Given the description of an element on the screen output the (x, y) to click on. 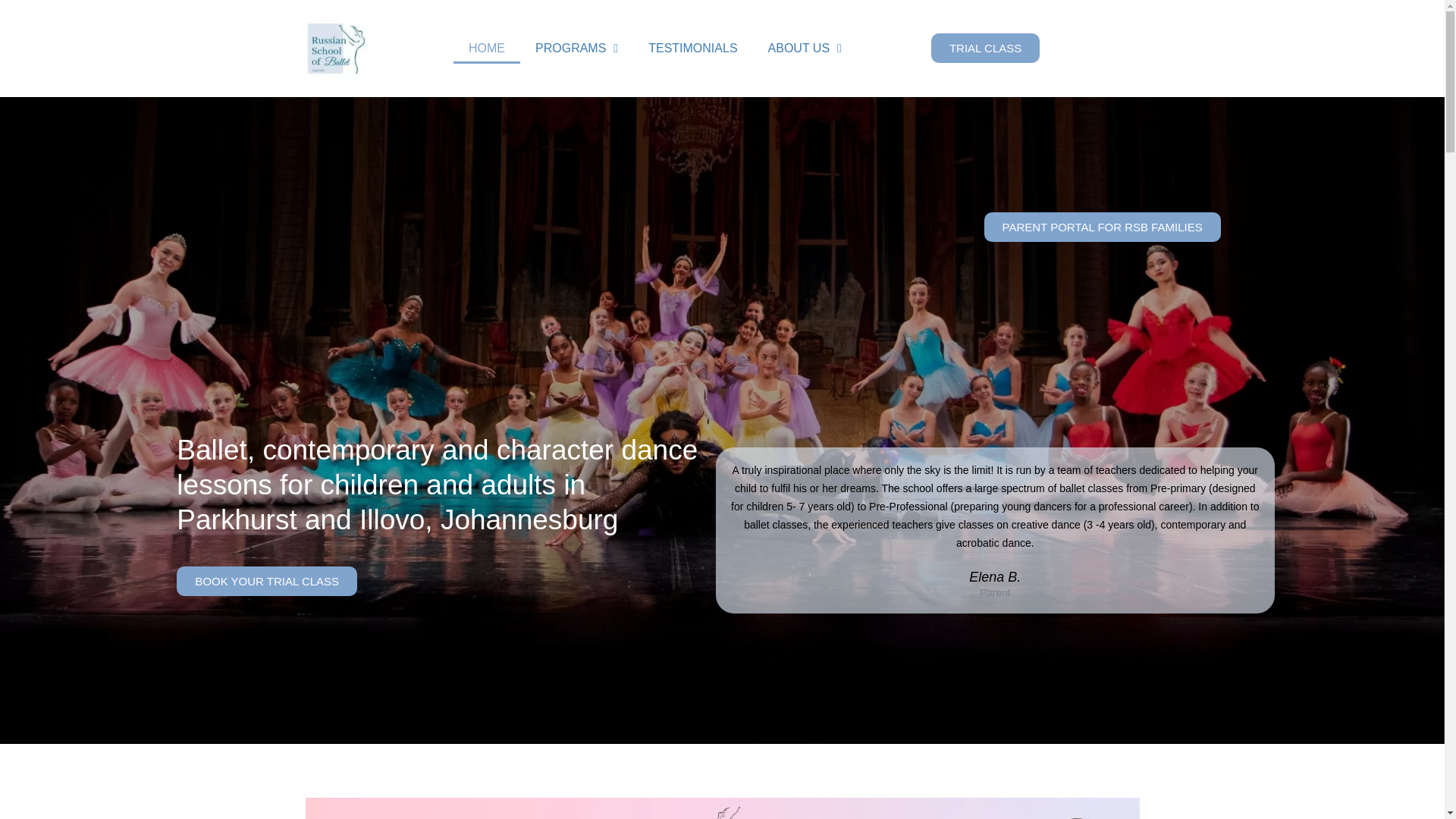
ABOUT US (804, 48)
HOME (485, 48)
TESTIMONIALS (692, 48)
TRIAL CLASS (985, 48)
PROGRAMS (576, 48)
BOOK YOUR TRIAL CLASS (266, 581)
